Given the description of an element on the screen output the (x, y) to click on. 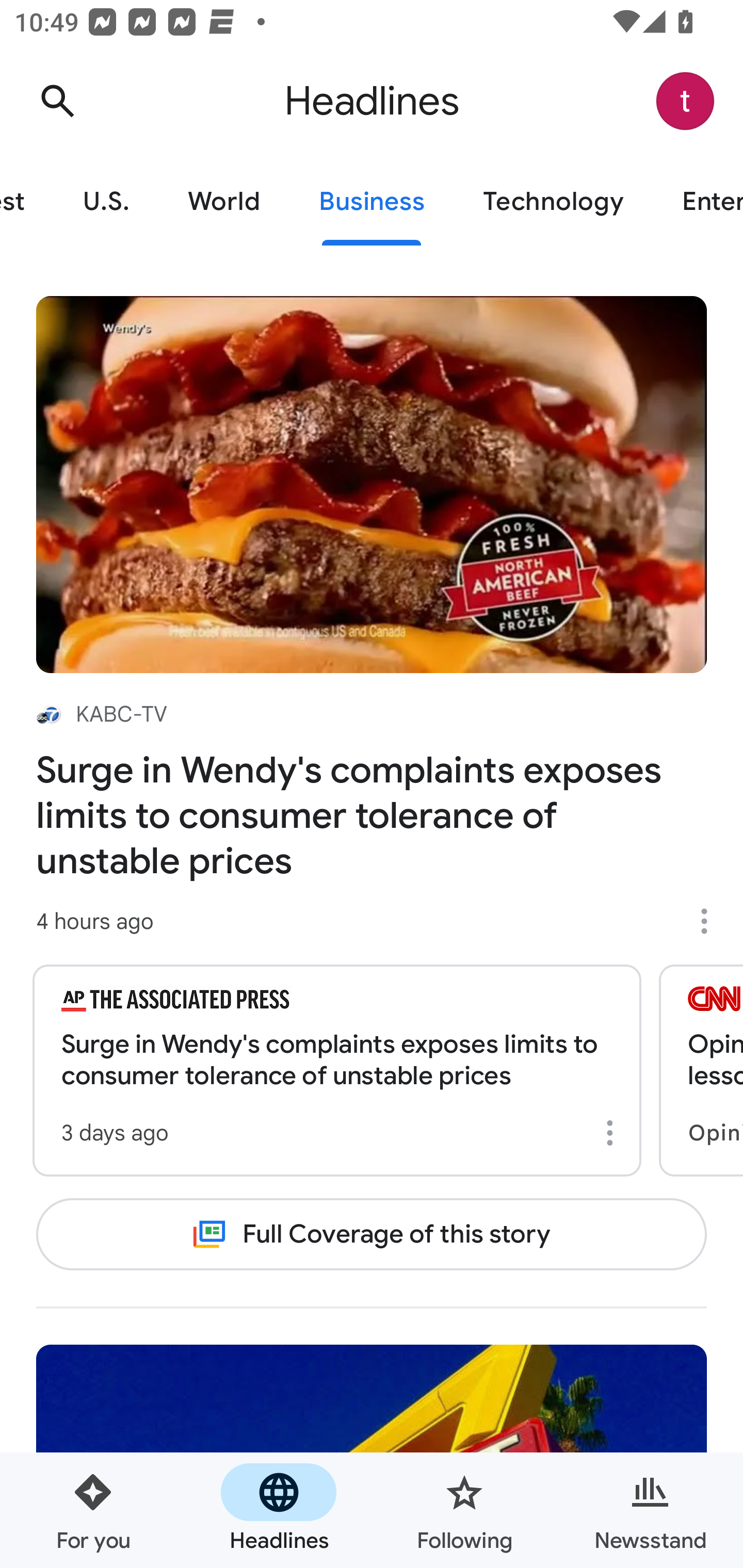
Search (57, 100)
U.S. (106, 202)
World (224, 202)
Technology (552, 202)
Entertainment (697, 202)
More options (711, 921)
More options (613, 1132)
Full Coverage of this story (371, 1233)
For you (92, 1509)
Headlines (278, 1509)
Following (464, 1509)
Newsstand (650, 1509)
